Given the description of an element on the screen output the (x, y) to click on. 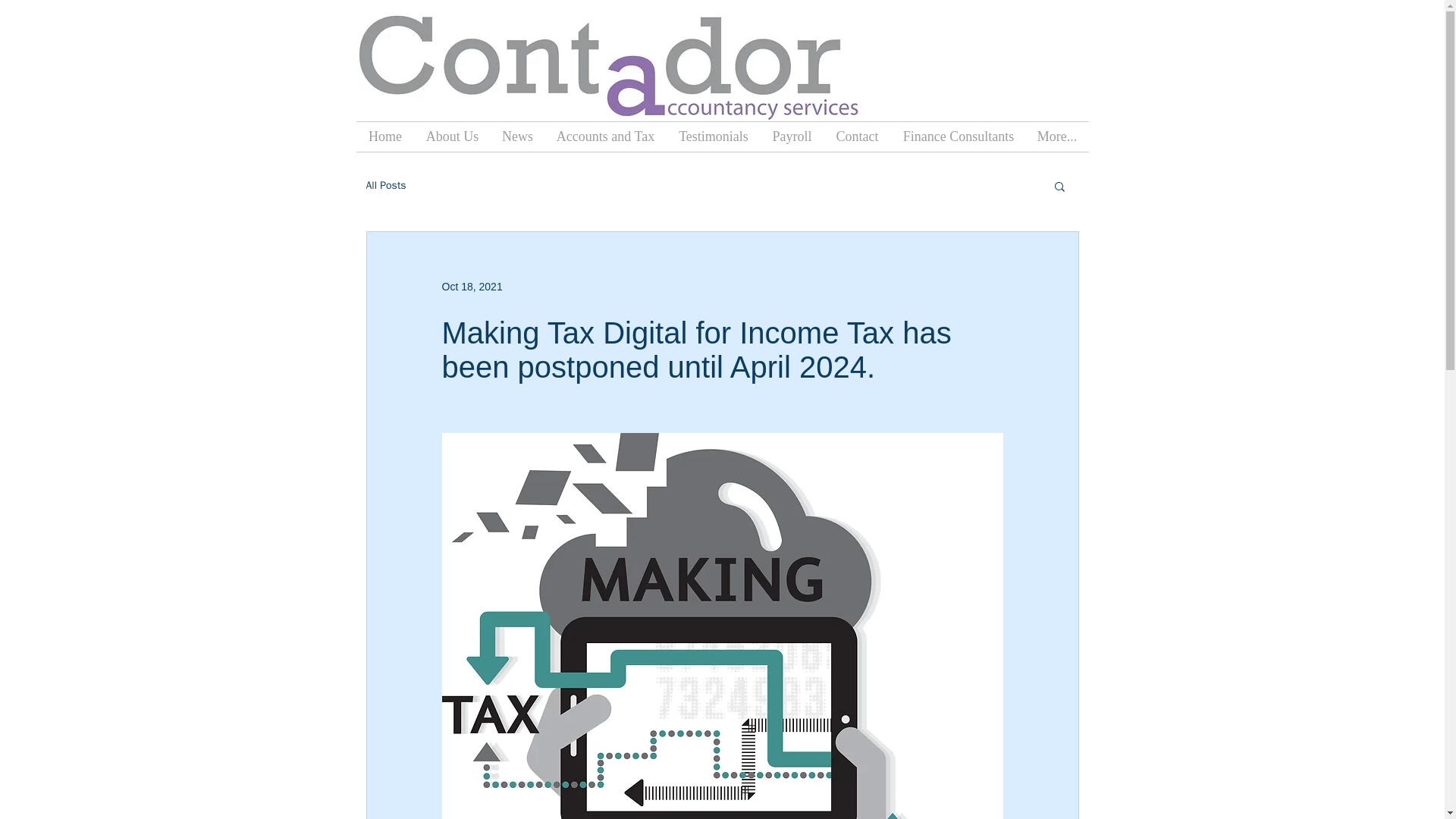
Home (385, 136)
About Us (451, 136)
Finance Consultants (958, 136)
Payroll (792, 136)
News (516, 136)
Oct 18, 2021 (471, 286)
Testimonials (712, 136)
Accounts and Tax (604, 136)
All Posts (385, 185)
Contact (857, 136)
